Given the description of an element on the screen output the (x, y) to click on. 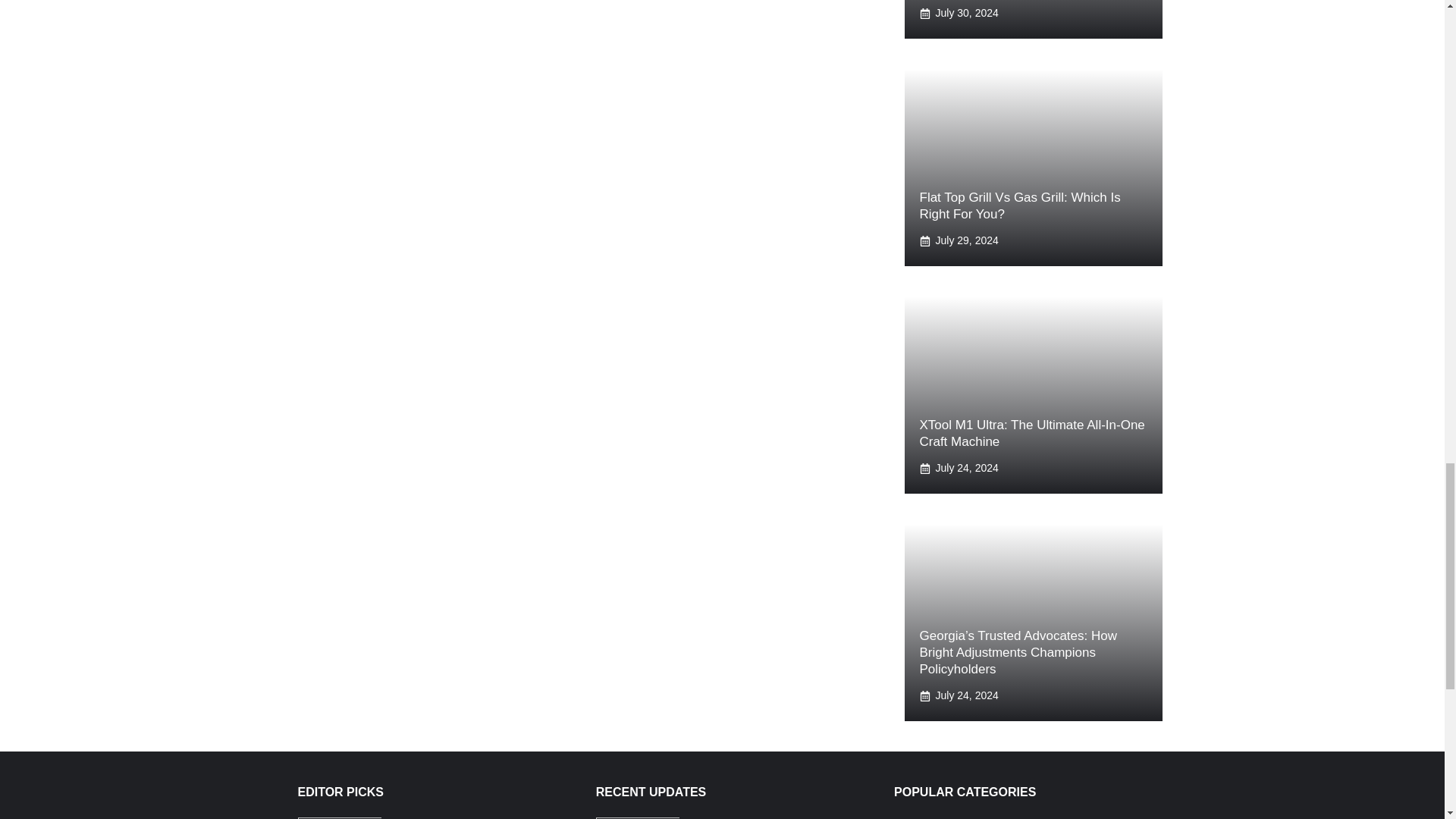
XTool M1 Ultra: The Ultimate All-In-One Craft Machine (1031, 432)
Flat Top Grill Vs Gas Grill: Which Is Right For You? (1018, 205)
